Given the description of an element on the screen output the (x, y) to click on. 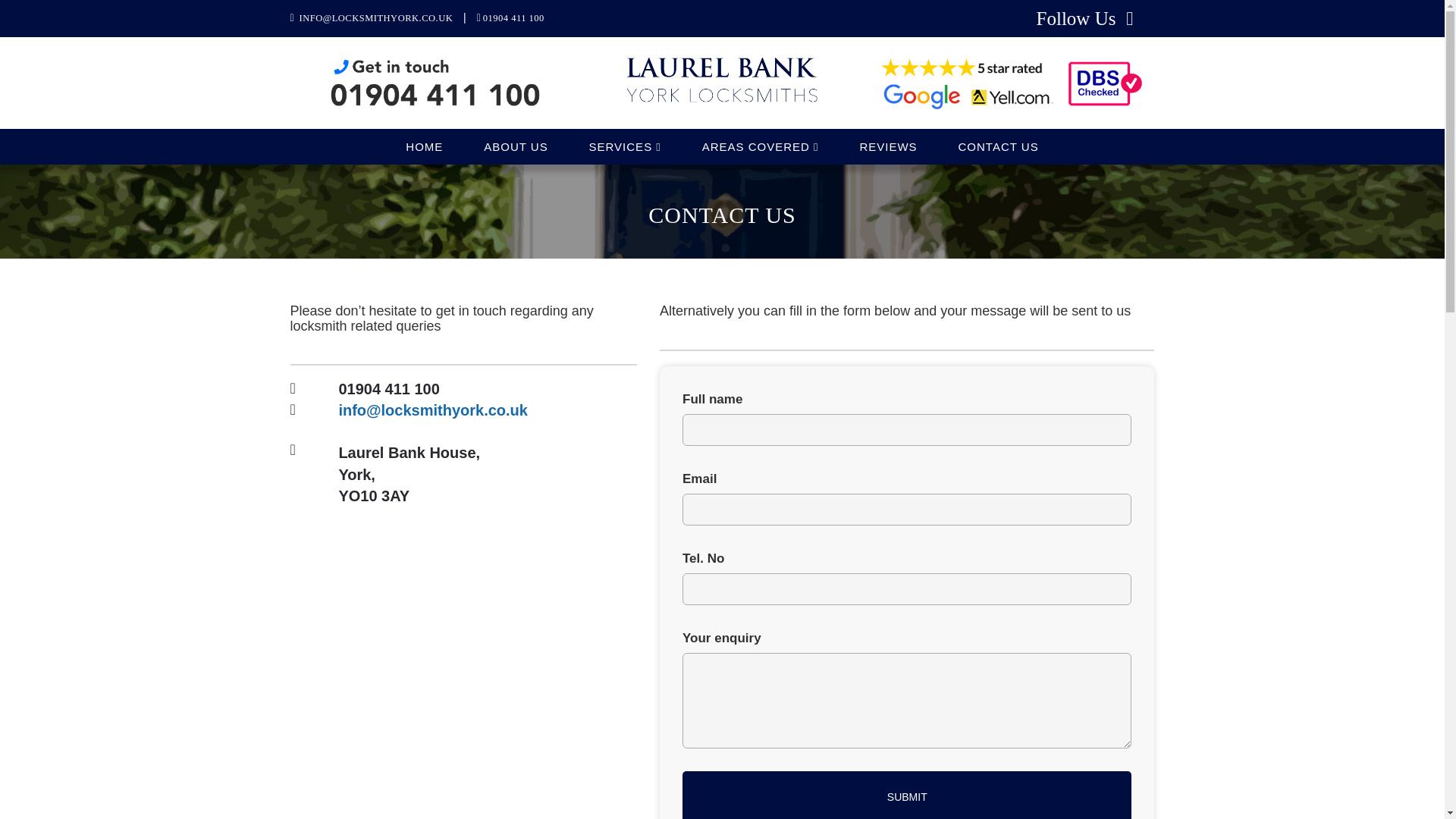
Submit (906, 794)
ABOUT US (515, 146)
Submit (906, 794)
HOME (424, 146)
REVIEWS (888, 146)
SERVICES (625, 146)
01904 411 100 (388, 388)
CONTACT US (998, 146)
01904 411 100 (513, 18)
AREAS COVERED (759, 146)
